Given the description of an element on the screen output the (x, y) to click on. 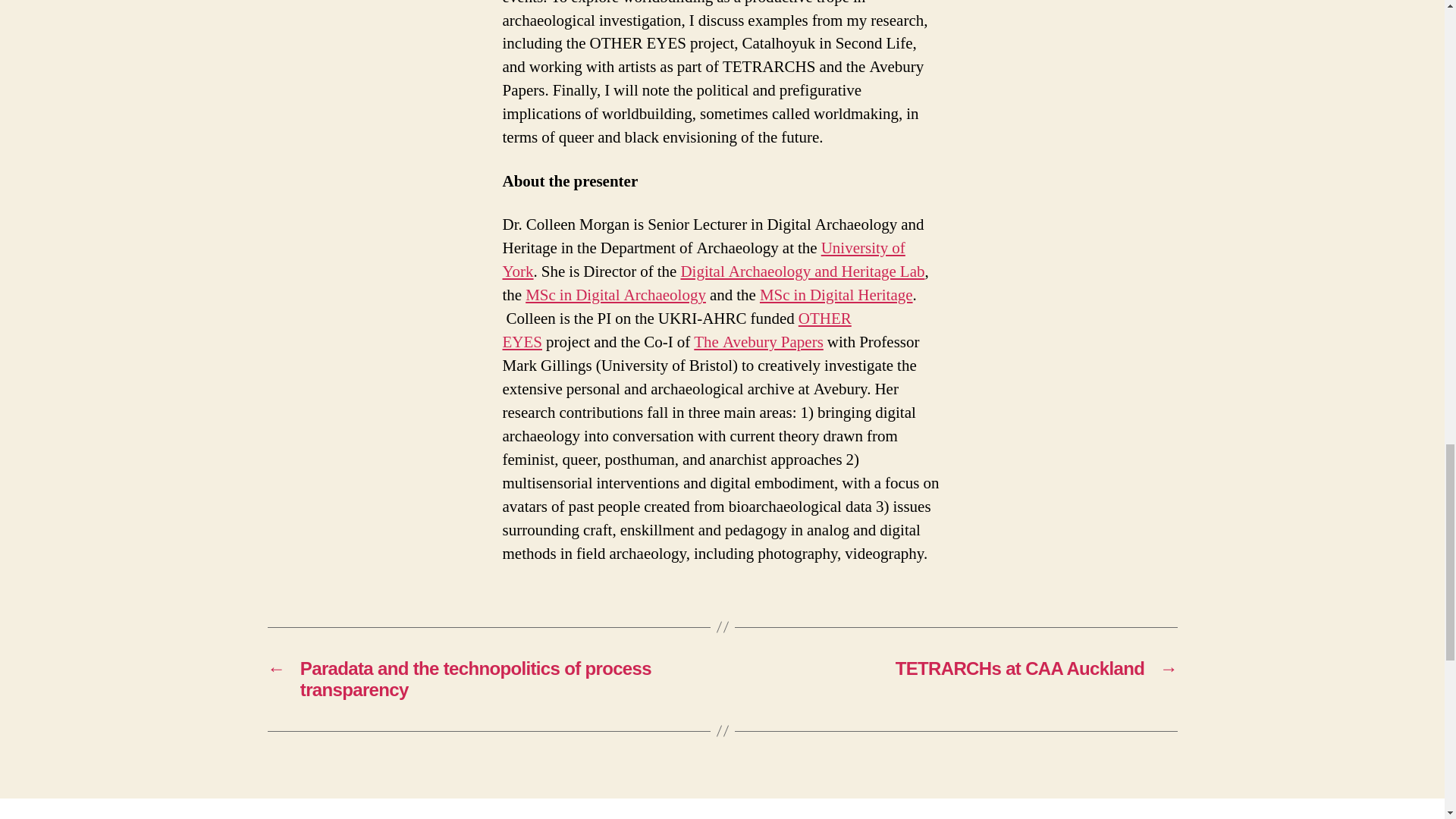
OTHER EYES (676, 330)
The Avebury Papers (759, 342)
MSc in Digital Heritage (836, 295)
MSc in Digital Archaeology (615, 295)
Digital Archaeology and Heritage Lab (801, 271)
University of York (703, 259)
